Given the description of an element on the screen output the (x, y) to click on. 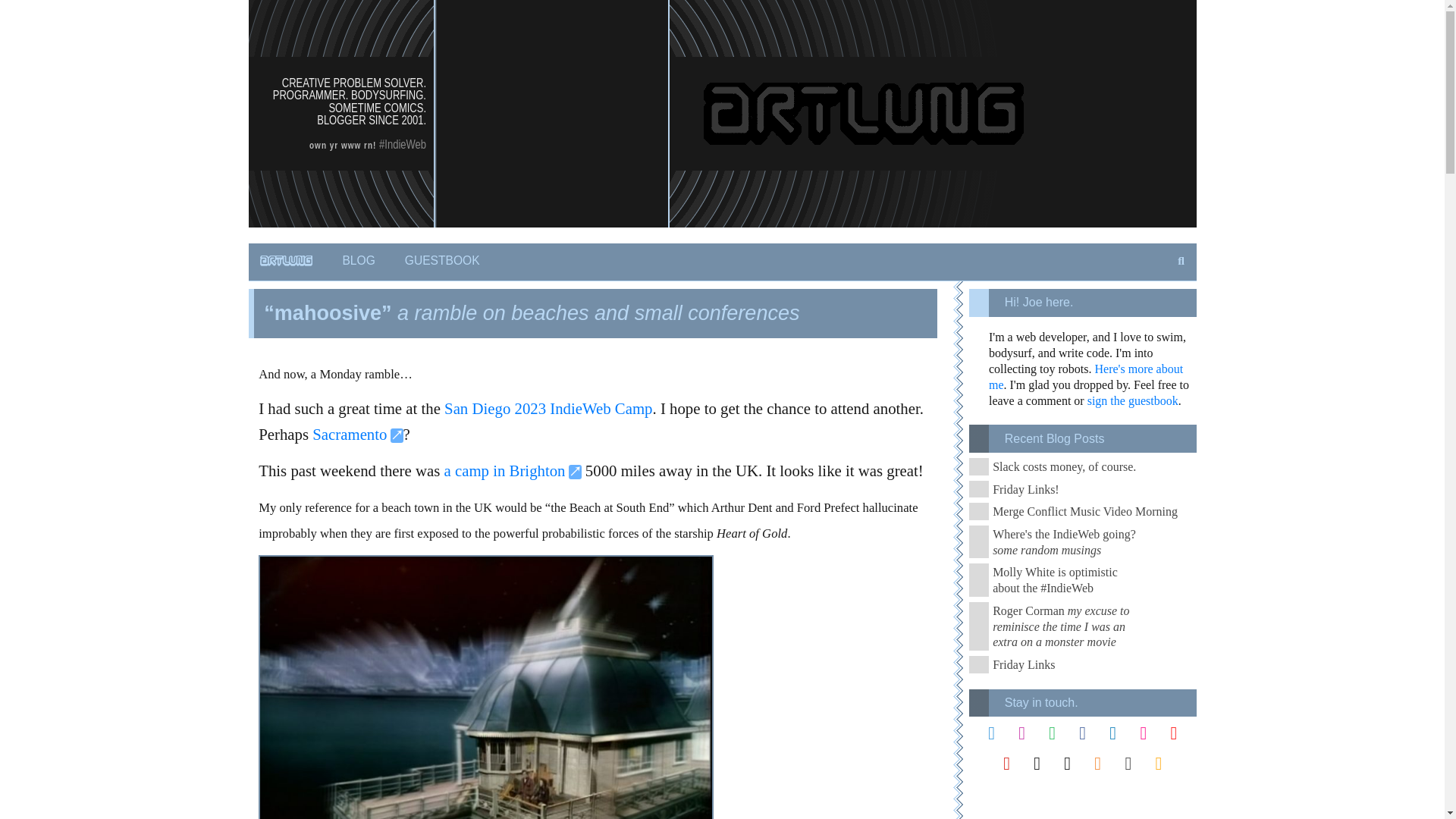
Own your website right now! (341, 144)
GUESTBOOK (442, 262)
San Diego 2023 IndieWeb Camp (548, 407)
BLOG (358, 262)
a camp in Brighton (512, 470)
ARTLUNG (286, 260)
Sacramento (358, 434)
